Given the description of an element on the screen output the (x, y) to click on. 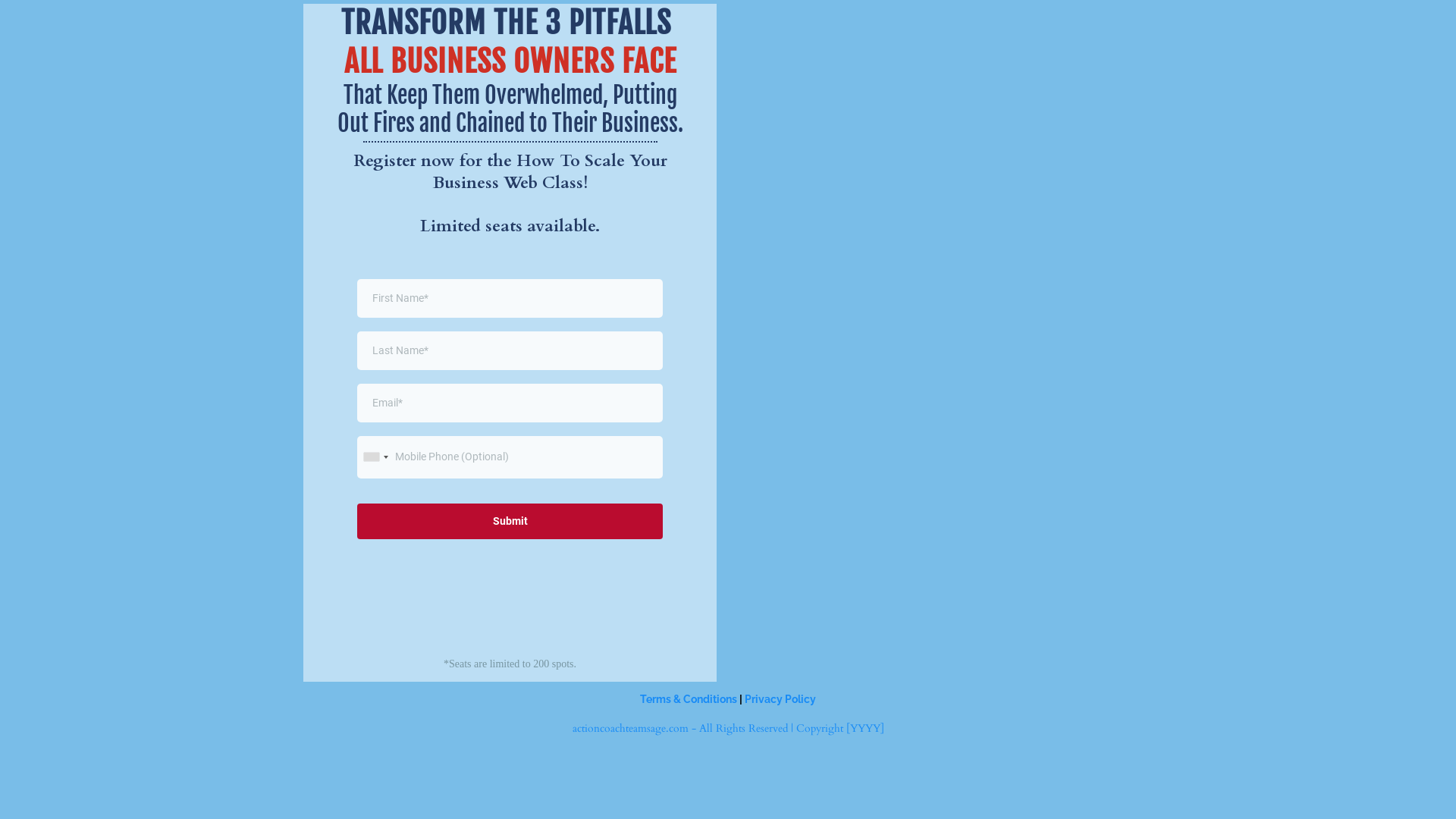
Privacy Policy Element type: text (779, 699)
Submit Element type: text (509, 521)
Terms & Conditions Element type: text (688, 699)
United States: +1 Element type: hover (374, 456)
